Given the description of an element on the screen output the (x, y) to click on. 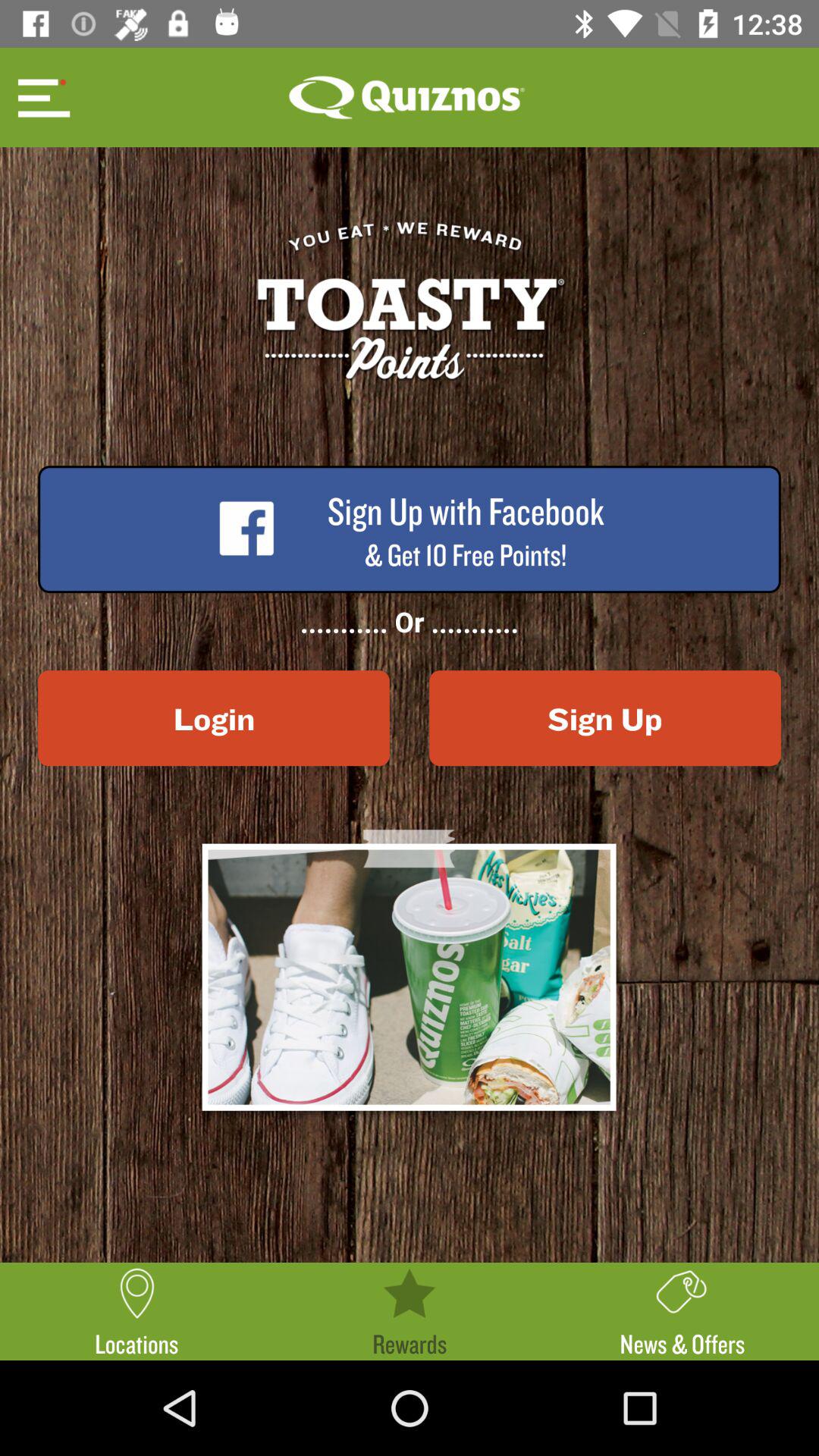
choose the icon below ........... (213, 718)
